Given the description of an element on the screen output the (x, y) to click on. 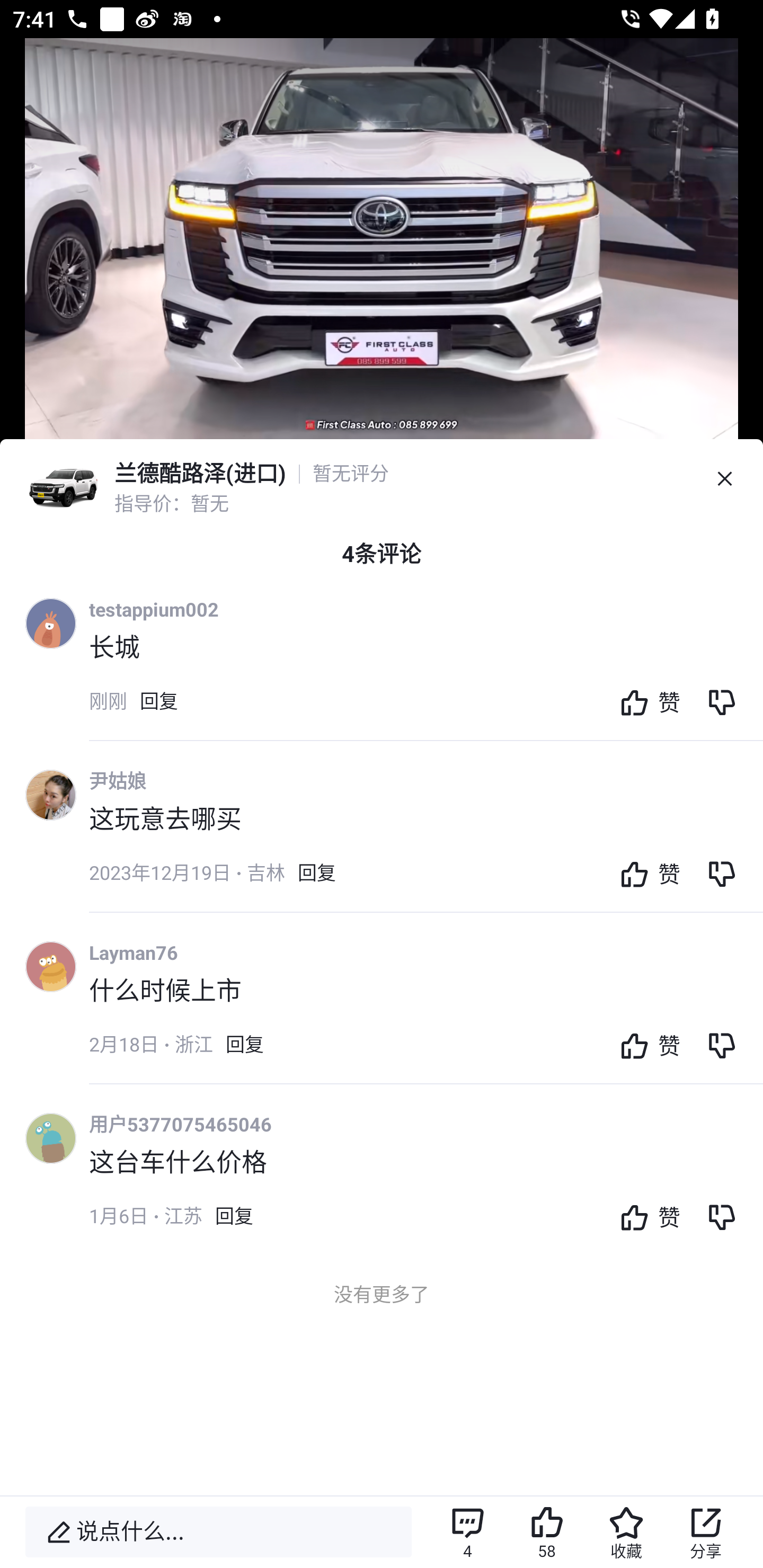
兰德酷路泽(进口) 暂无评分 指导价：暂无 (381, 479)
testappium002 长城 刚刚 回复 赞 (426, 667)
testappium002 (153, 609)
赞 (645, 701)
尹姑娘 这玩意去哪买 2023年12月19日 < >吉林 回复 赞 (426, 838)
尹姑娘 (117, 780)
赞 (645, 873)
Layman76 什么时候上市 2月18日 < >浙江 回复 赞 (426, 1010)
Layman76 (133, 952)
赞 (645, 1044)
用户5377075465046 这台车什么价格 1月6日 < >江苏 回复 赞 (426, 1182)
用户5377075465046 (180, 1124)
赞 (645, 1216)
 4 (467, 1531)
58 (546, 1531)
收藏 (625, 1531)
 分享 (705, 1531)
 说点什么... (218, 1531)
